Given the description of an element on the screen output the (x, y) to click on. 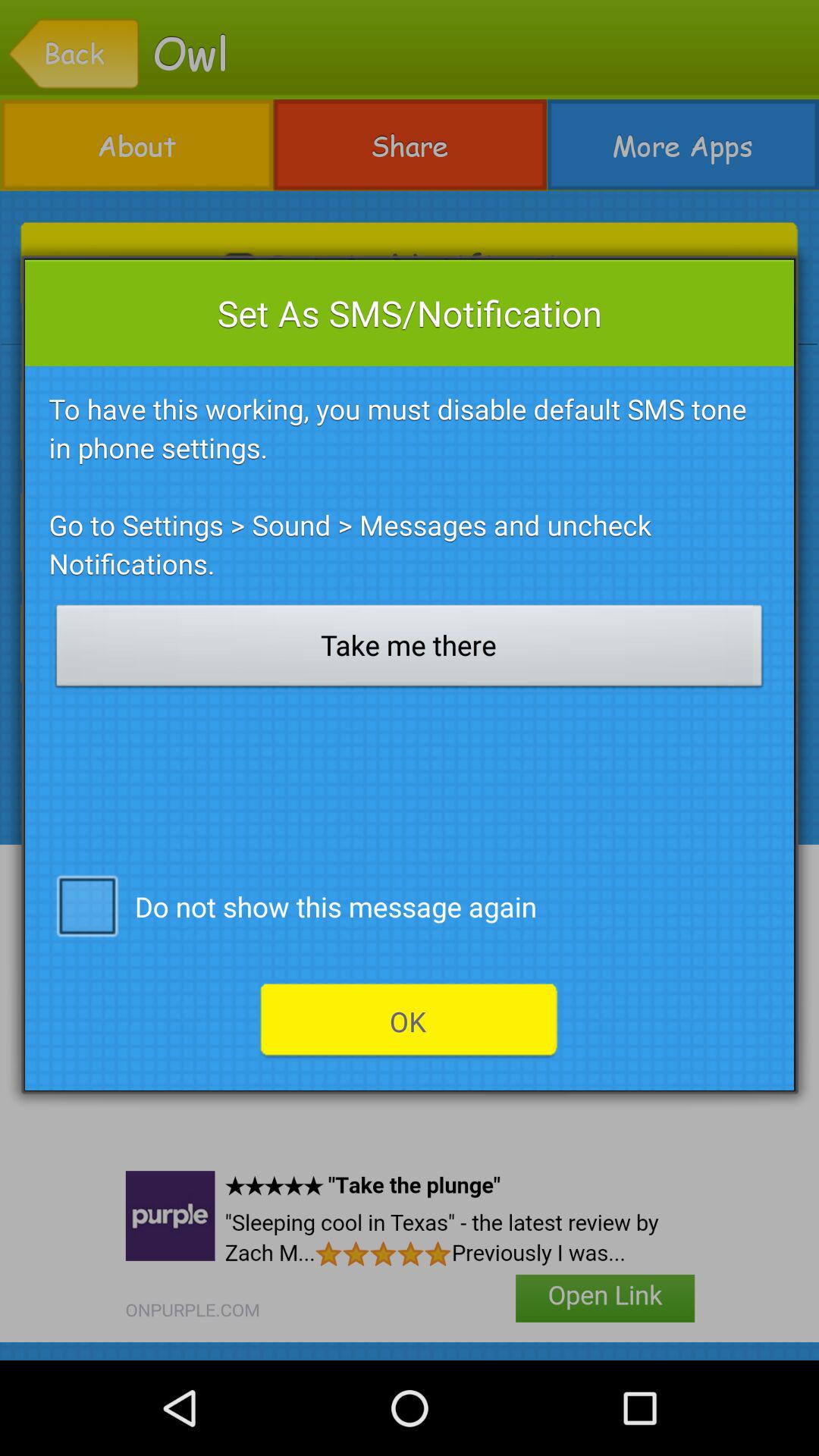
flip to the take me there item (409, 649)
